Given the description of an element on the screen output the (x, y) to click on. 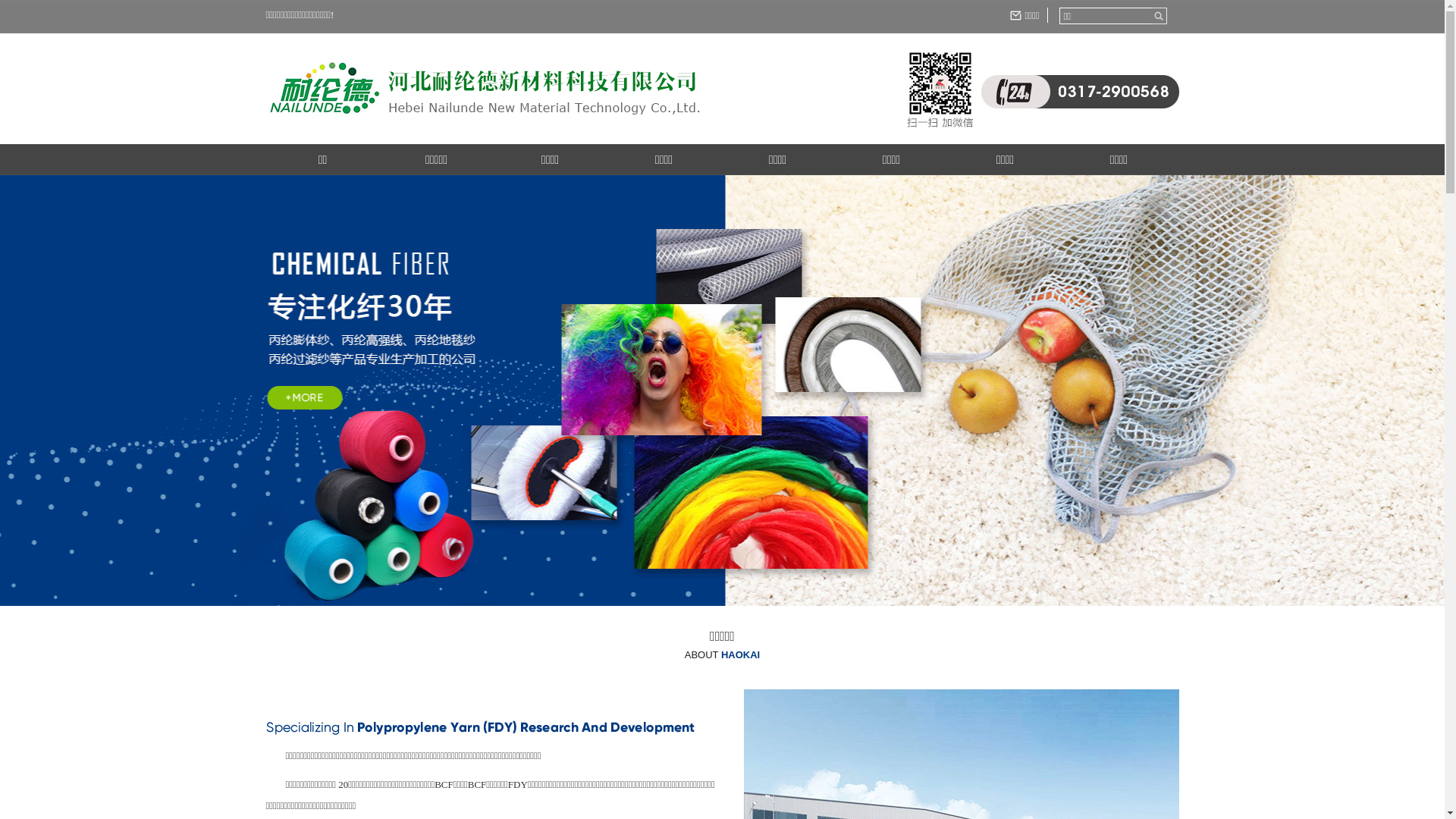
ABOUT HAOKAI Element type: text (721, 654)
